Given the description of an element on the screen output the (x, y) to click on. 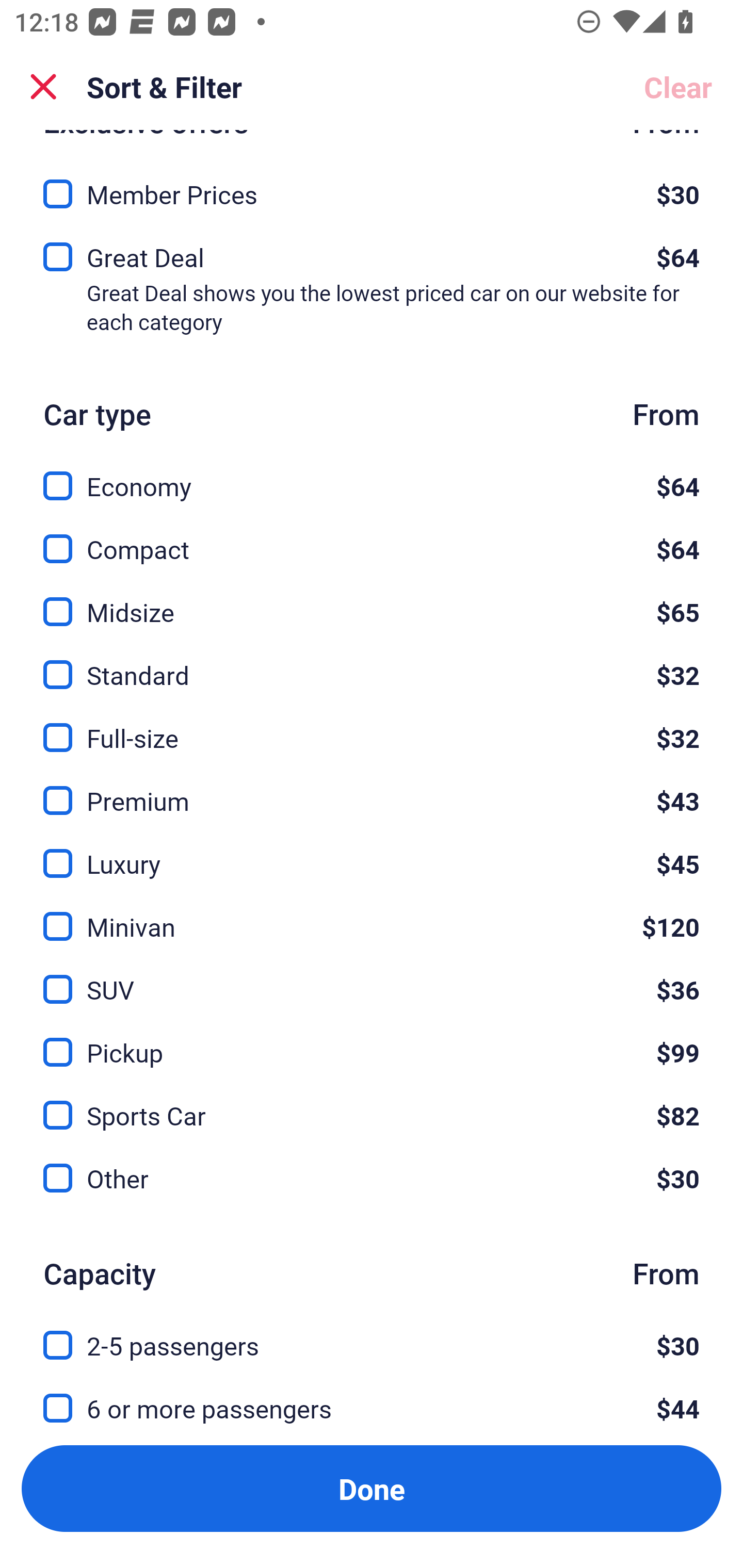
Close Sort and Filter (43, 86)
Clear (677, 86)
Member Prices, $30 Member Prices $30 (371, 187)
Economy, $64 Economy $64 (371, 474)
Compact, $64 Compact $64 (371, 537)
Midsize, $65 Midsize $65 (371, 600)
Standard, $32 Standard $32 (371, 662)
Full-size, $32 Full-size $32 (371, 725)
Premium, $43 Premium $43 (371, 788)
Luxury, $45 Luxury $45 (371, 851)
Minivan, $120 Minivan $120 (371, 914)
SUV, $36 SUV $36 (371, 978)
Pickup, $99 Pickup $99 (371, 1040)
Sports Car, $82 Sports Car $82 (371, 1103)
Other, $30 Other $30 (371, 1178)
2-5 passengers, $30 2-5 passengers $30 (371, 1334)
6 or more passengers, $44 6 or more passengers $44 (371, 1405)
Apply and close Sort and Filter Done (371, 1488)
